Given the description of an element on the screen output the (x, y) to click on. 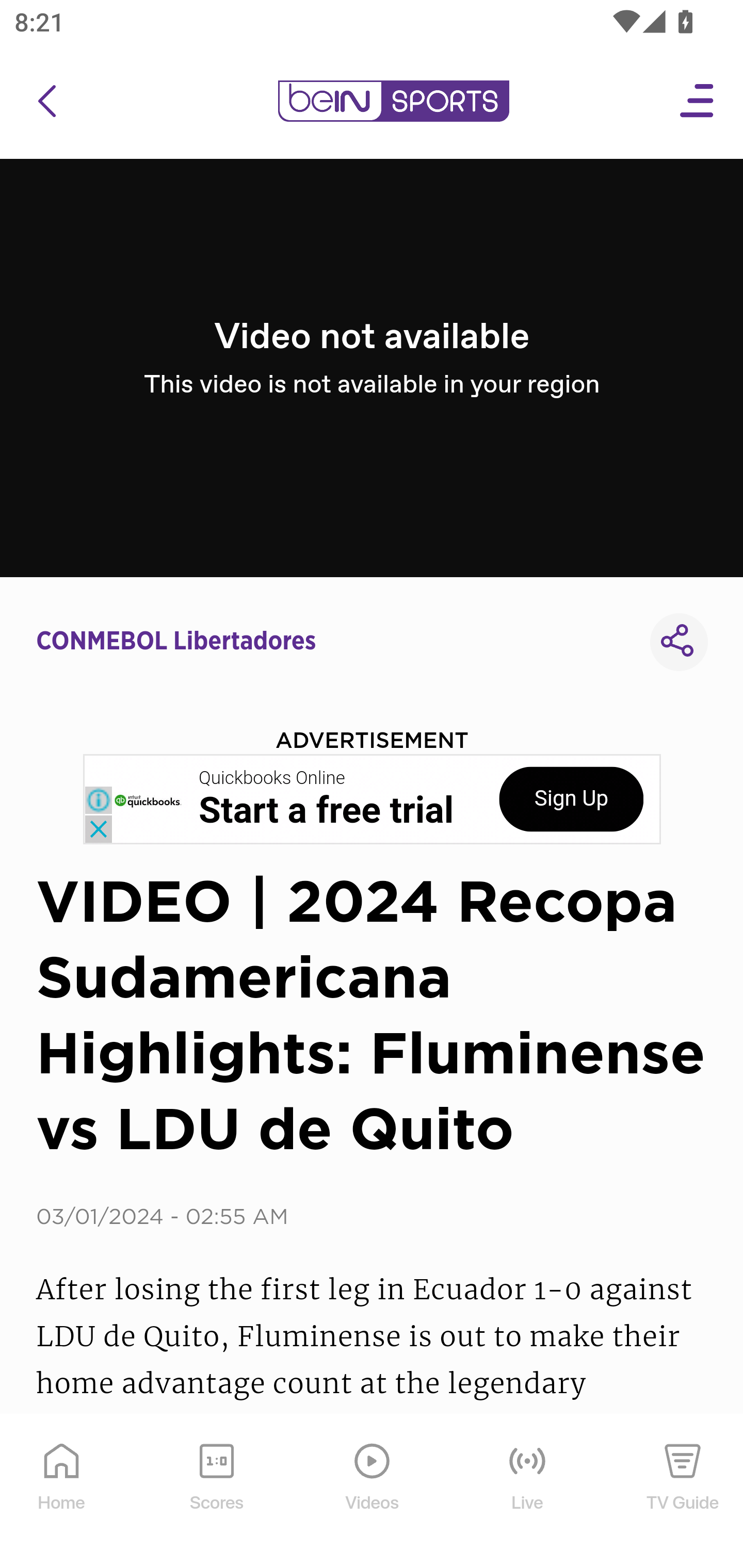
en-us?platform=mobile_android bein logo (392, 101)
icon back (46, 101)
Open Menu Icon (697, 101)
Quickbooks Online (272, 778)
Sign Up (571, 799)
Start a free trial (326, 810)
Home Home Icon Home (61, 1491)
Scores Scores Icon Scores (216, 1491)
Videos Videos Icon Videos (372, 1491)
TV Guide TV Guide Icon TV Guide (682, 1491)
